Given the description of an element on the screen output the (x, y) to click on. 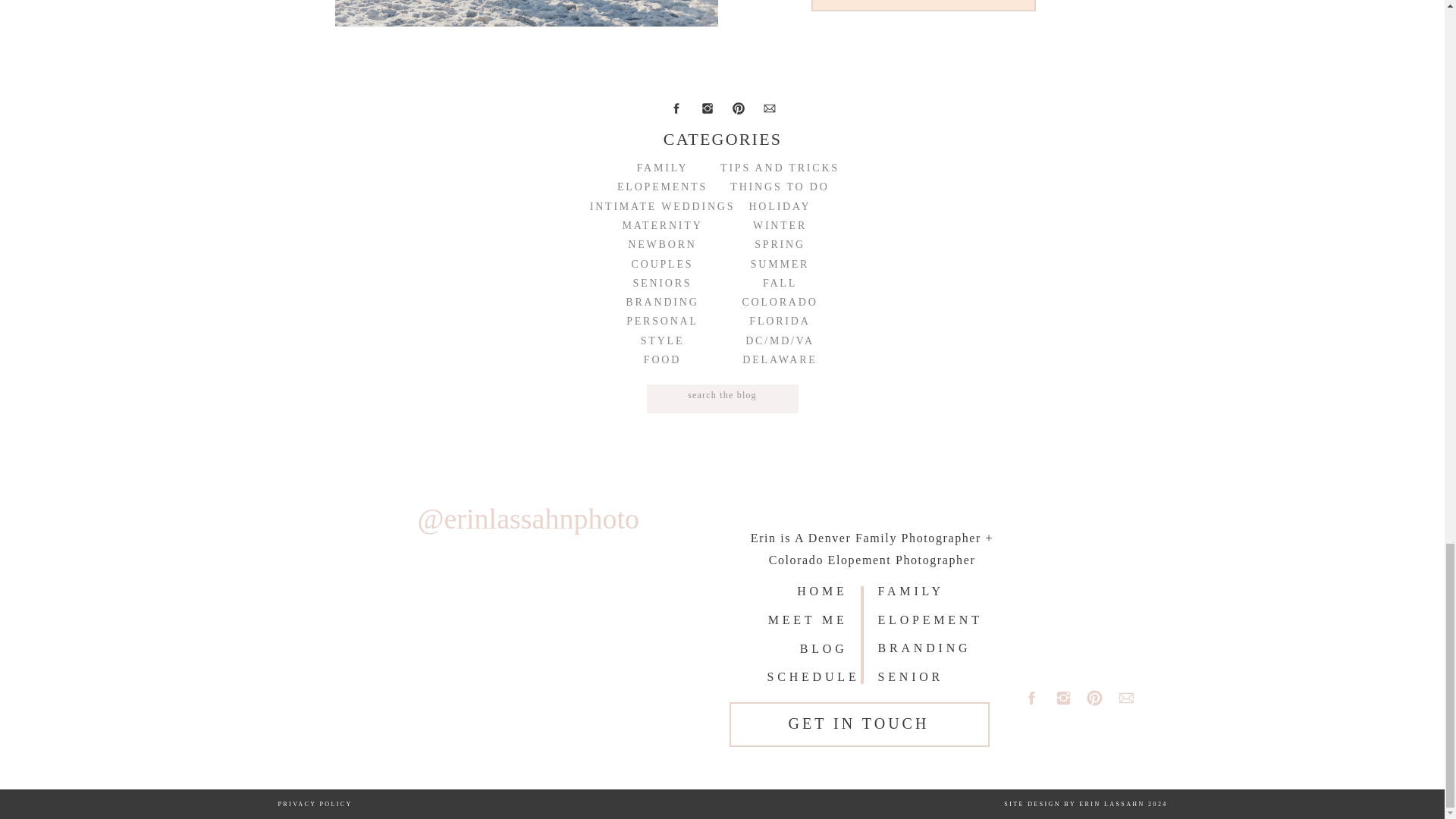
10 Reasons Why Beach Sessions Are Amazing! (923, 1)
BRANDING (662, 302)
NEWBORN (662, 244)
TIPS AND TRICKS (779, 167)
DELAWARE (779, 359)
FLORIDA (779, 320)
COLORADO (779, 302)
WINTER (779, 225)
THINGS TO DO (779, 186)
SPRING (779, 244)
COUPLES (662, 263)
VIEW POST (923, 1)
PERSONAL (662, 320)
